Given the description of an element on the screen output the (x, y) to click on. 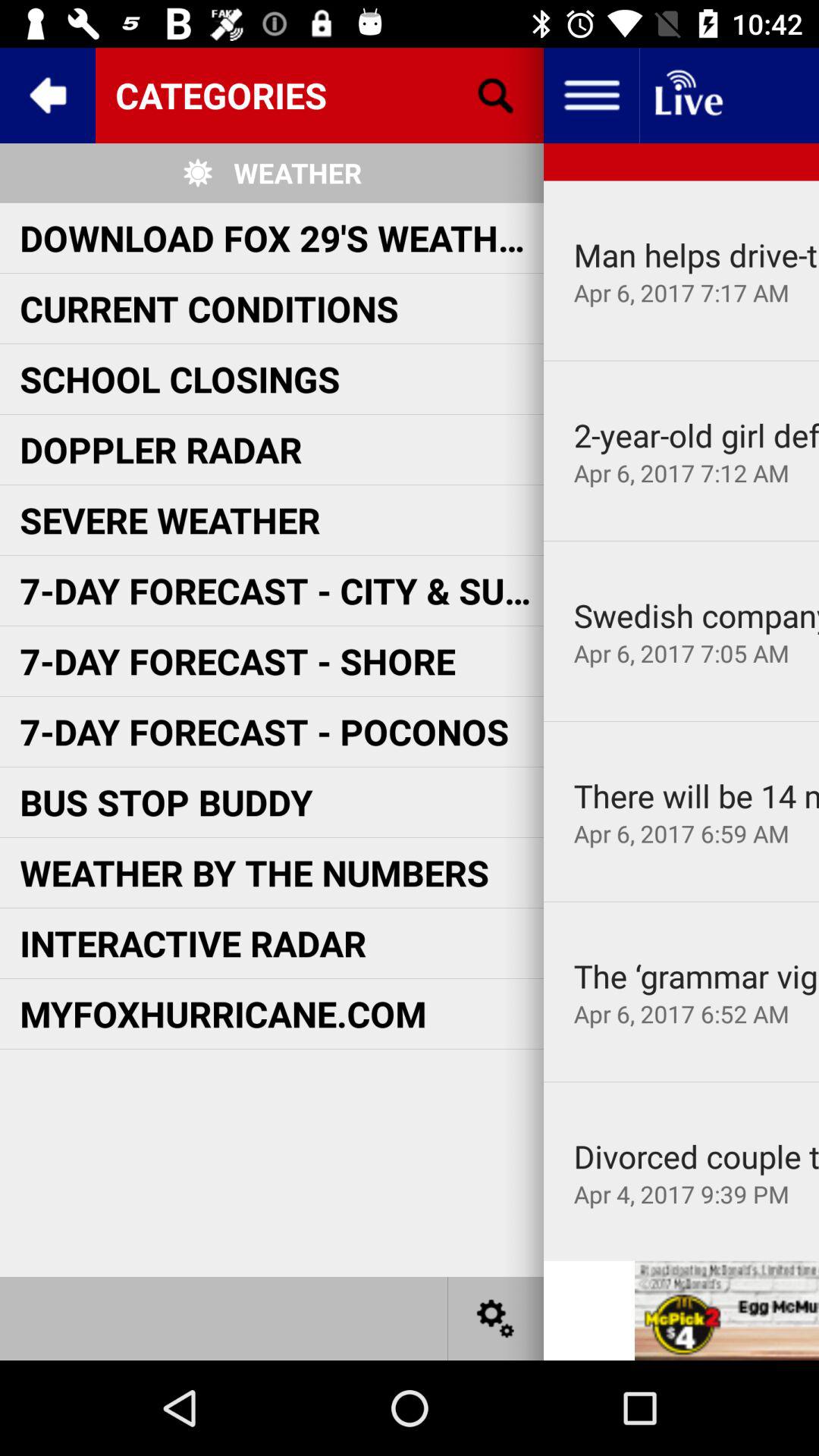
open settings (495, 1318)
